Given the description of an element on the screen output the (x, y) to click on. 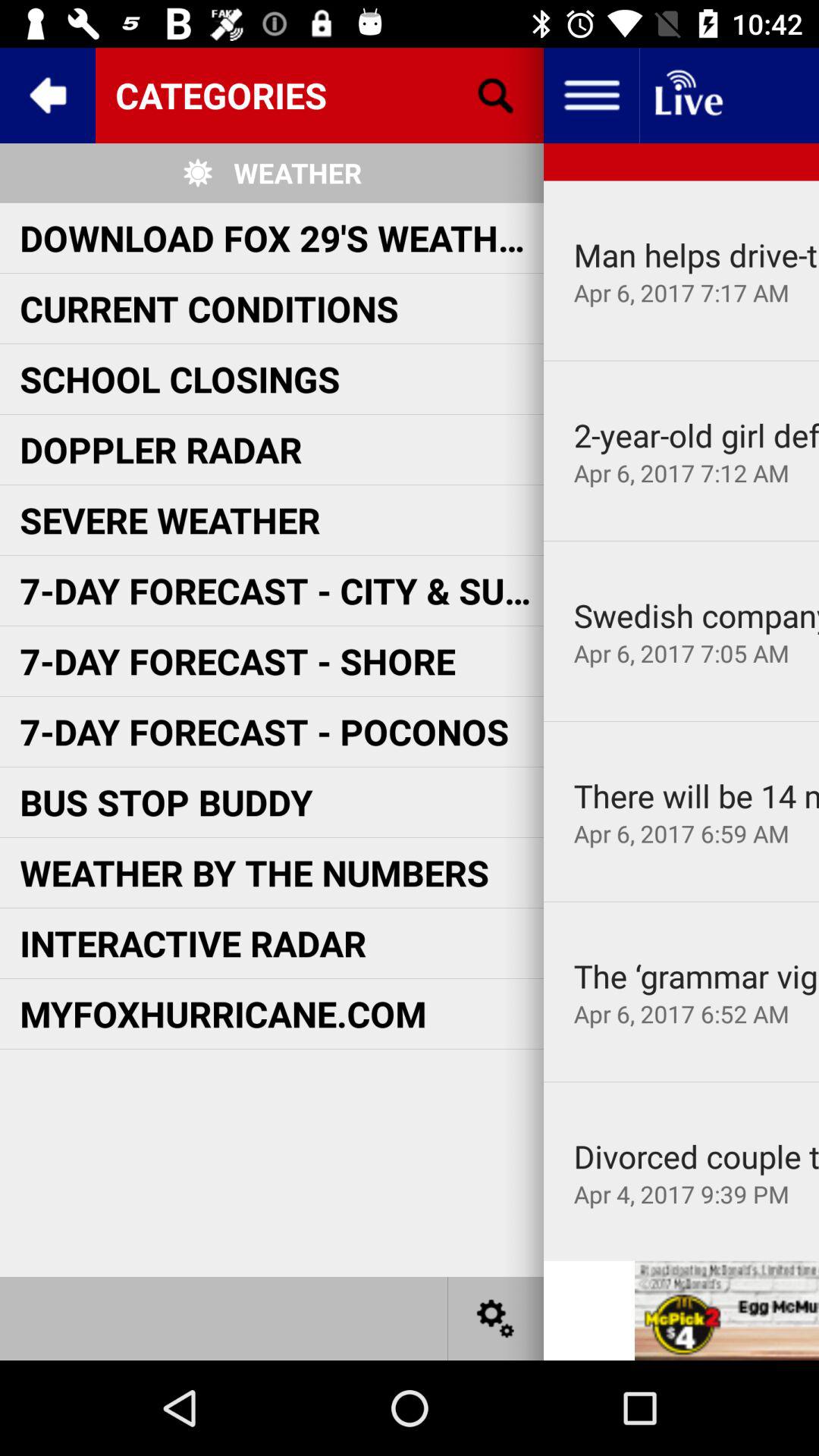
open settings (495, 1318)
